Given the description of an element on the screen output the (x, y) to click on. 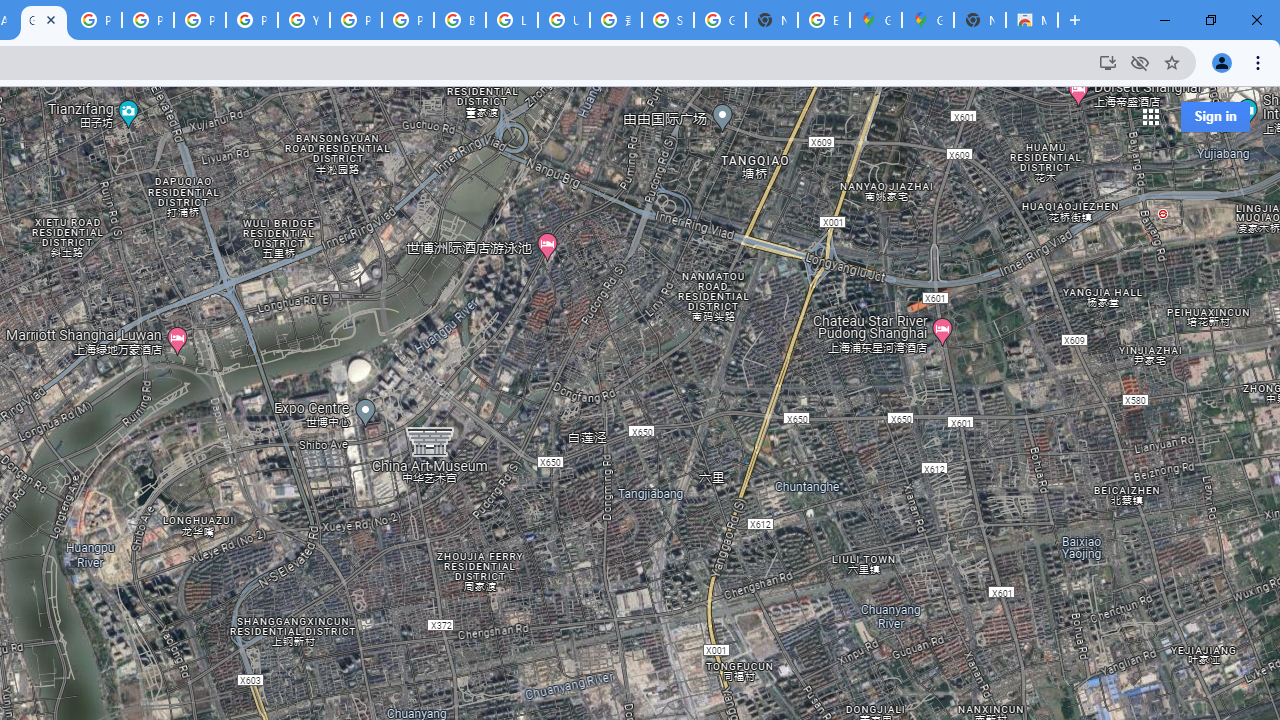
Privacy Help Center - Policies Help (147, 20)
Google Maps (875, 20)
Google Maps (43, 20)
Policy Accountability and Transparency - Transparency Center (95, 20)
Privacy Help Center - Policies Help (200, 20)
